Given the description of an element on the screen output the (x, y) to click on. 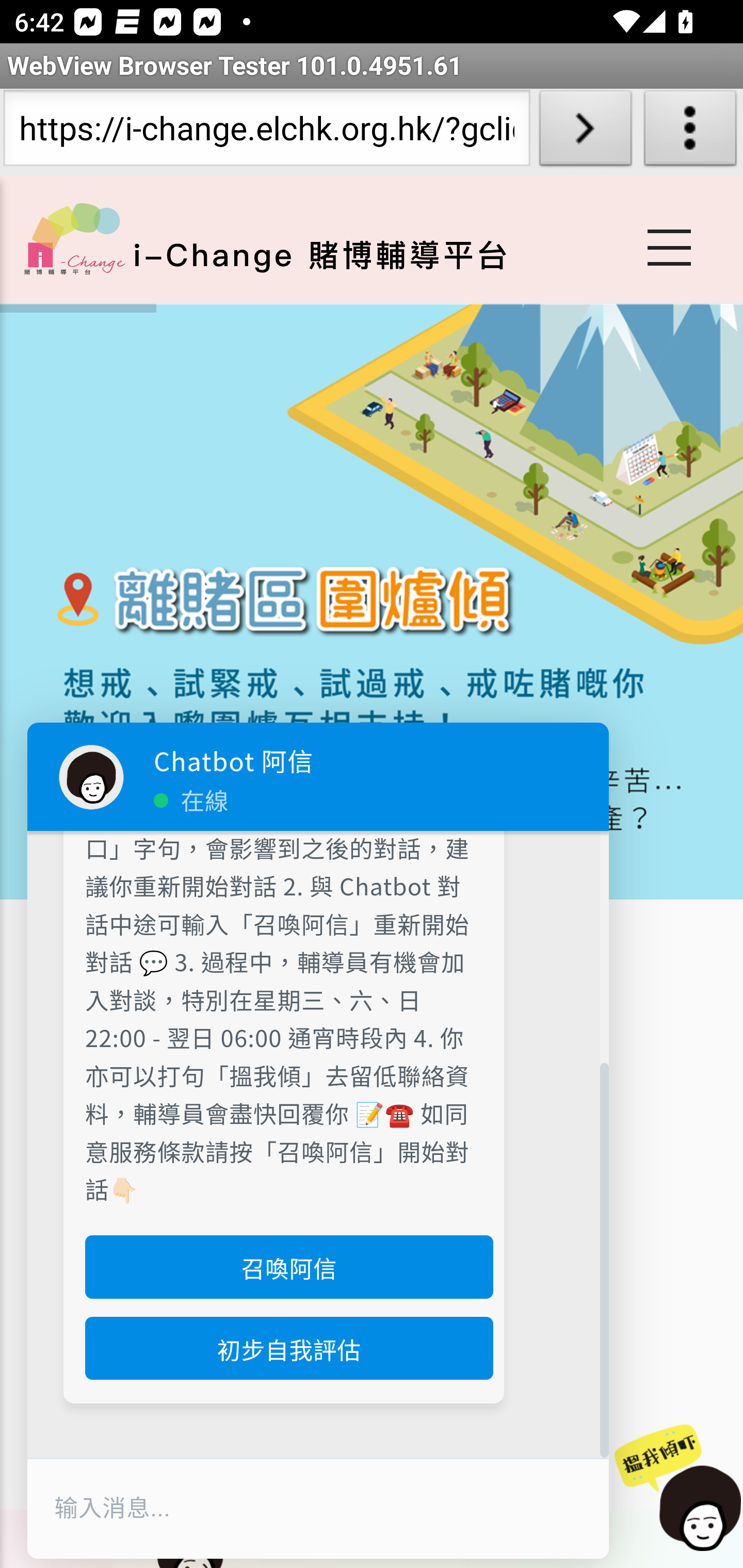
Load URL (585, 132)
About WebView (690, 132)
Home (74, 238)
Chat Now (679, 1488)
